Given the description of an element on the screen output the (x, y) to click on. 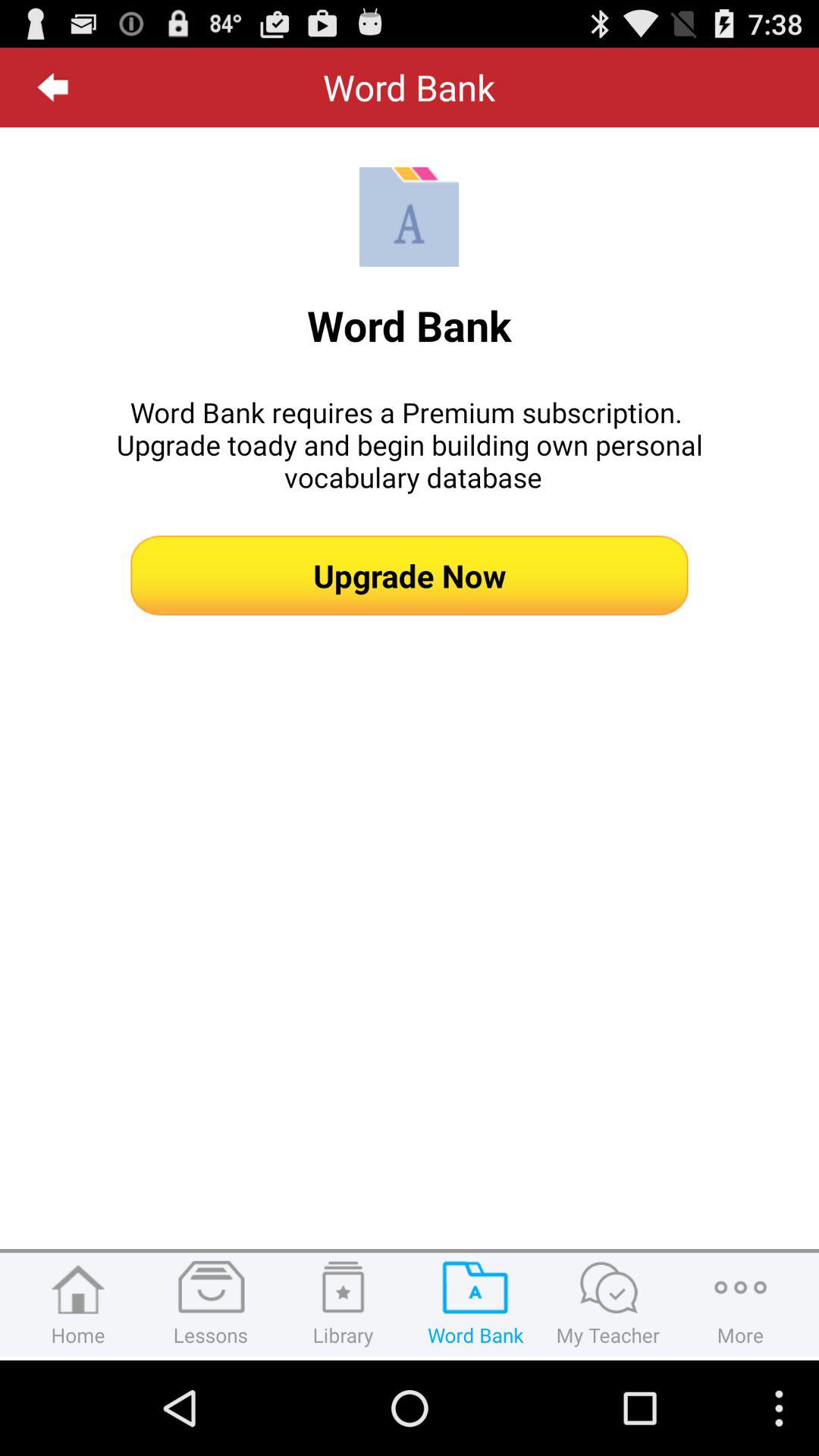
press the item next to word bank app (53, 87)
